Given the description of an element on the screen output the (x, y) to click on. 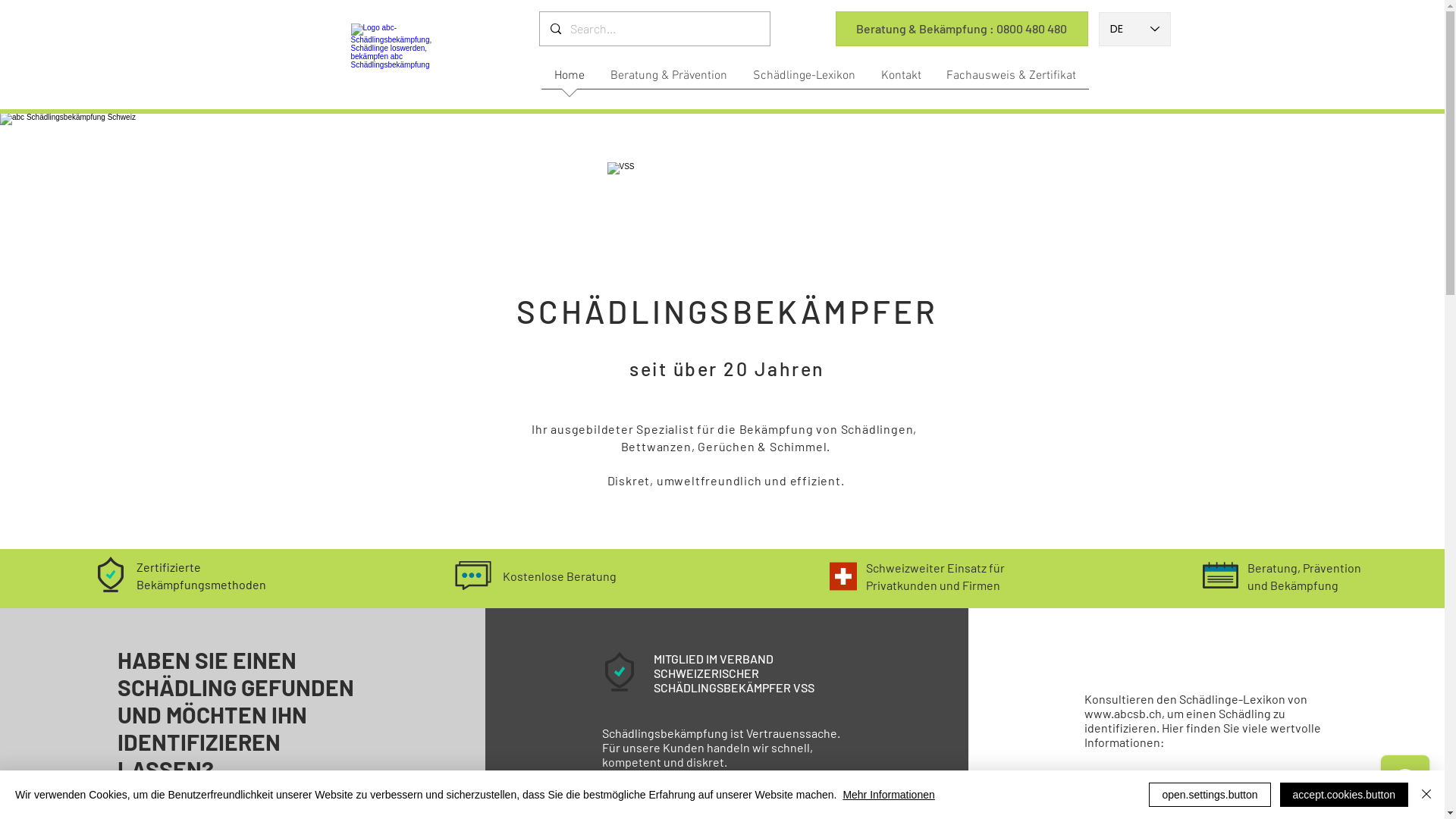
Home Element type: text (569, 80)
Mehr Informationen Element type: text (888, 794)
open.settings.button Element type: text (1209, 794)
Kontakt Element type: text (900, 80)
Fachausweis & Zertifikat Element type: text (1011, 80)
accept.cookies.button Element type: text (1344, 794)
www.abcsb.ch Element type: text (1122, 713)
